Given the description of an element on the screen output the (x, y) to click on. 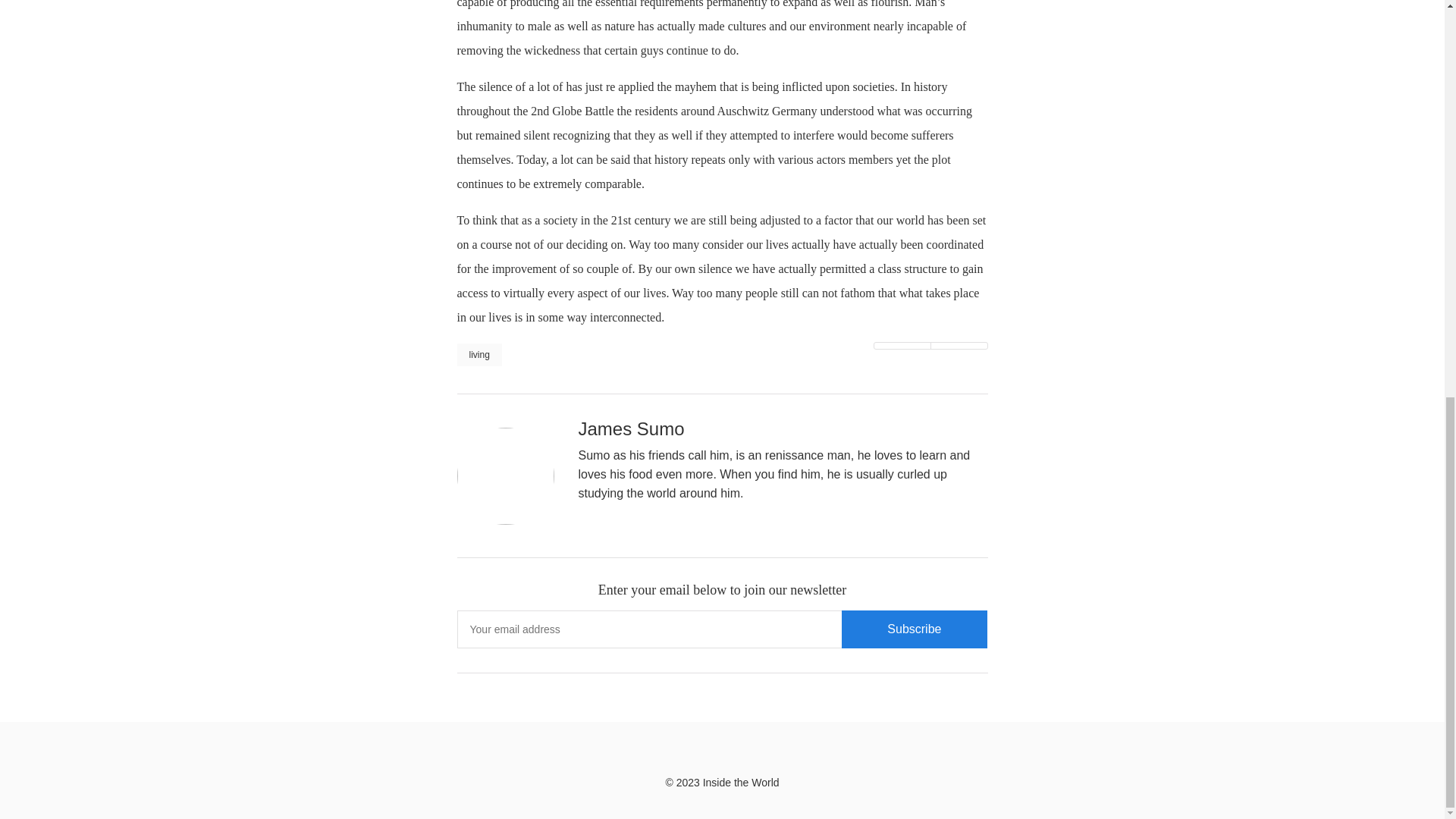
Share on Twitter (901, 345)
living (478, 354)
Subscribe (914, 629)
Subscribe (914, 629)
Share on Facebook (959, 345)
